Given the description of an element on the screen output the (x, y) to click on. 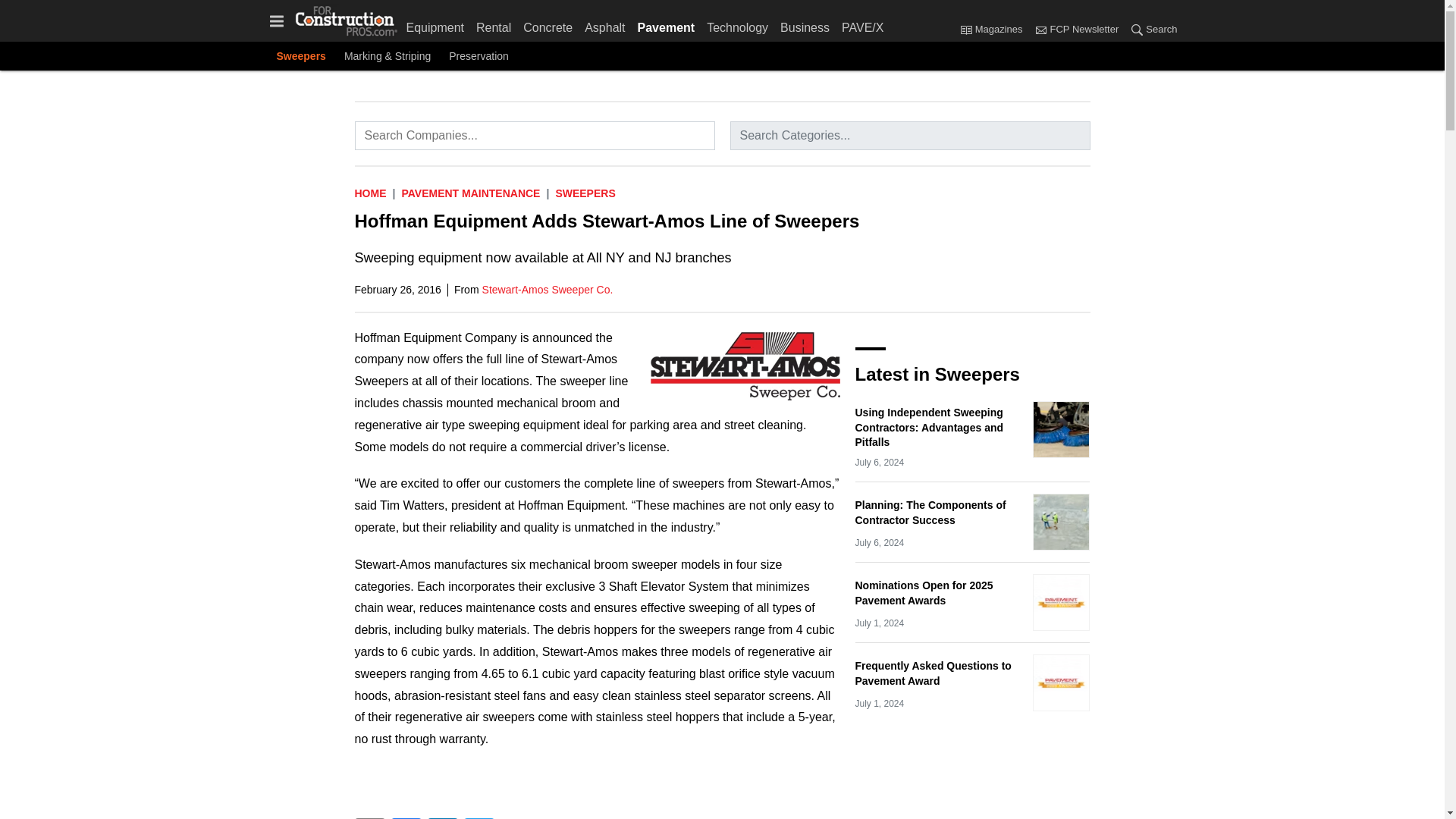
Search (1150, 29)
Magazines (994, 29)
Preservation (478, 55)
Pavement (666, 24)
Equipment (438, 24)
Sweepers (300, 55)
Rental (493, 24)
FCP Newsletter (1039, 29)
Search (1136, 29)
Technology (737, 24)
Asphalt (604, 24)
Pavement Maintenance (470, 193)
Home (371, 193)
